Given the description of an element on the screen output the (x, y) to click on. 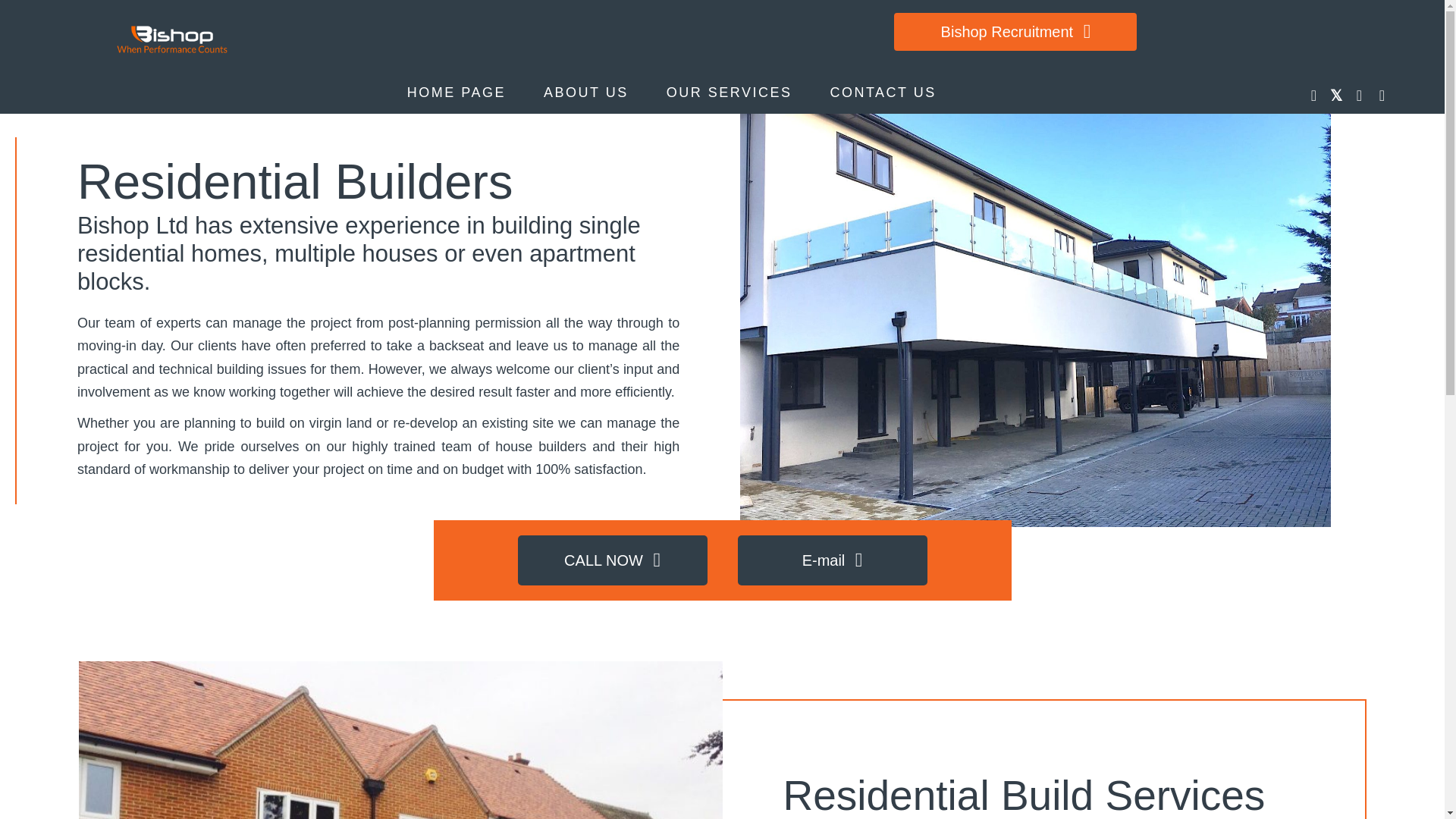
CONTACT US (882, 92)
ABOUT US (585, 92)
Bishop Recruitment (1015, 31)
LinkedIn (1358, 95)
Email (1382, 95)
HOME PAGE (456, 92)
OUR SERVICES (729, 92)
Little Lawns Back (400, 739)
Twitter (1335, 95)
Bishop-Logo-new-scaled (172, 39)
Facebook (1313, 95)
